Given the description of an element on the screen output the (x, y) to click on. 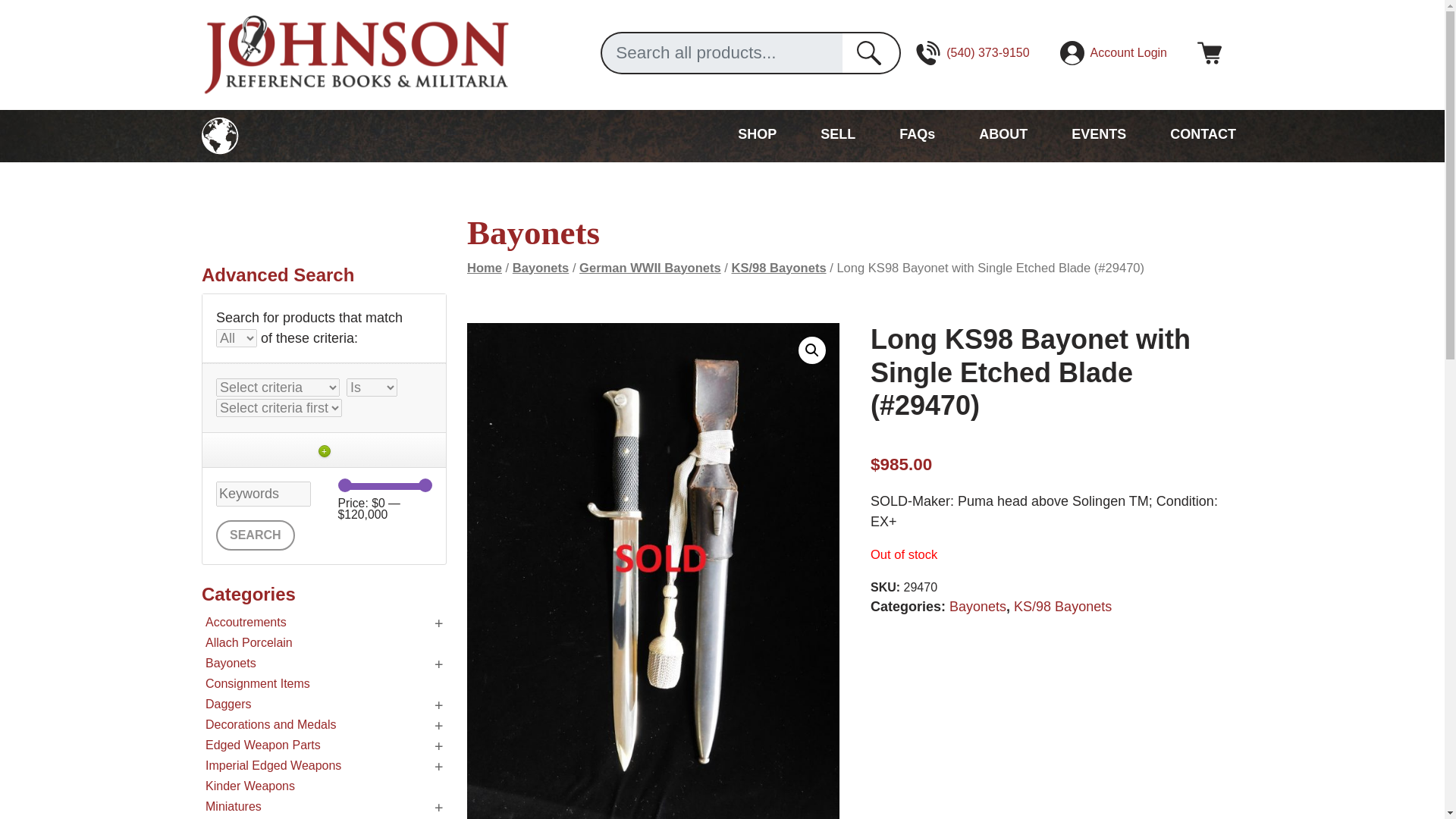
Home (484, 268)
SHOP (756, 134)
Bayonets (540, 268)
Add search row (323, 449)
EVENTS (1098, 134)
German WWII Bayonets (649, 268)
ABOUT (1002, 134)
FAQs (917, 134)
CONTACT (1203, 134)
Bayonets (977, 606)
SELL (837, 134)
Search (255, 535)
Account Login (1113, 52)
